Given the description of an element on the screen output the (x, y) to click on. 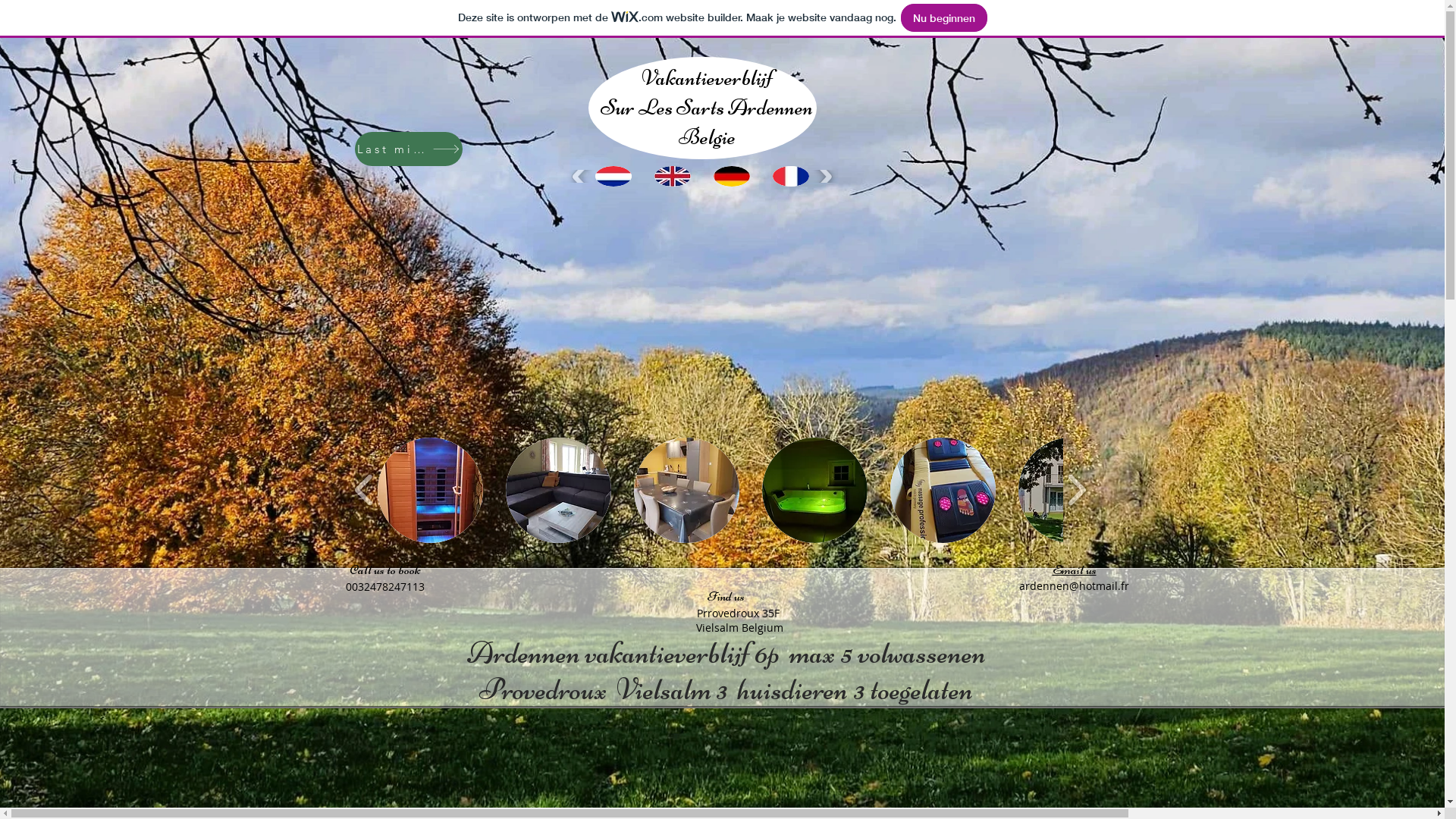
ardennen@hotmail.fr Element type: text (1074, 585)
Last minute Element type: text (408, 148)
